Given the description of an element on the screen output the (x, y) to click on. 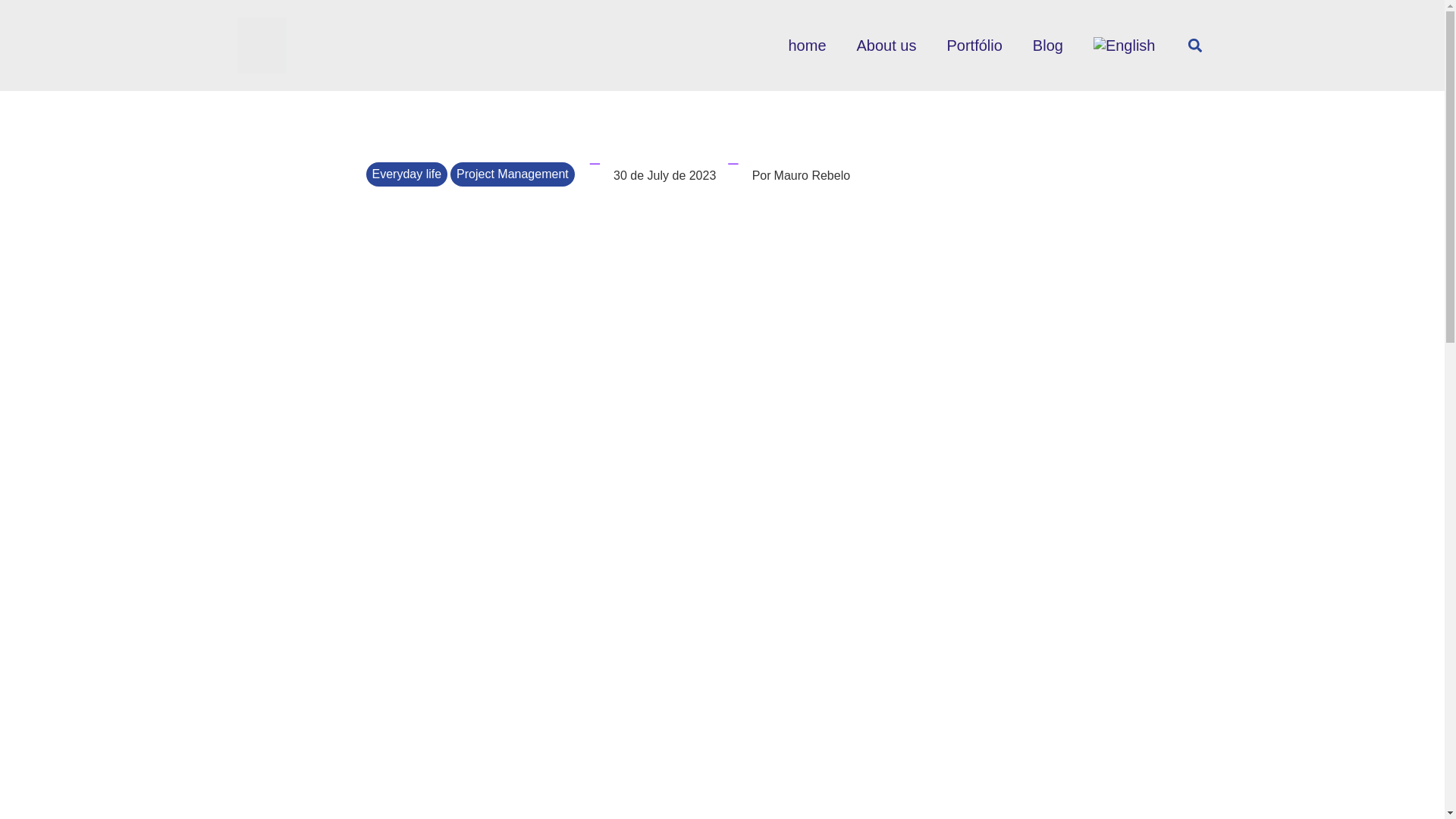
About us (886, 45)
home (807, 45)
Project Management (512, 174)
Blog (1047, 45)
Everyday life (405, 174)
